Given the description of an element on the screen output the (x, y) to click on. 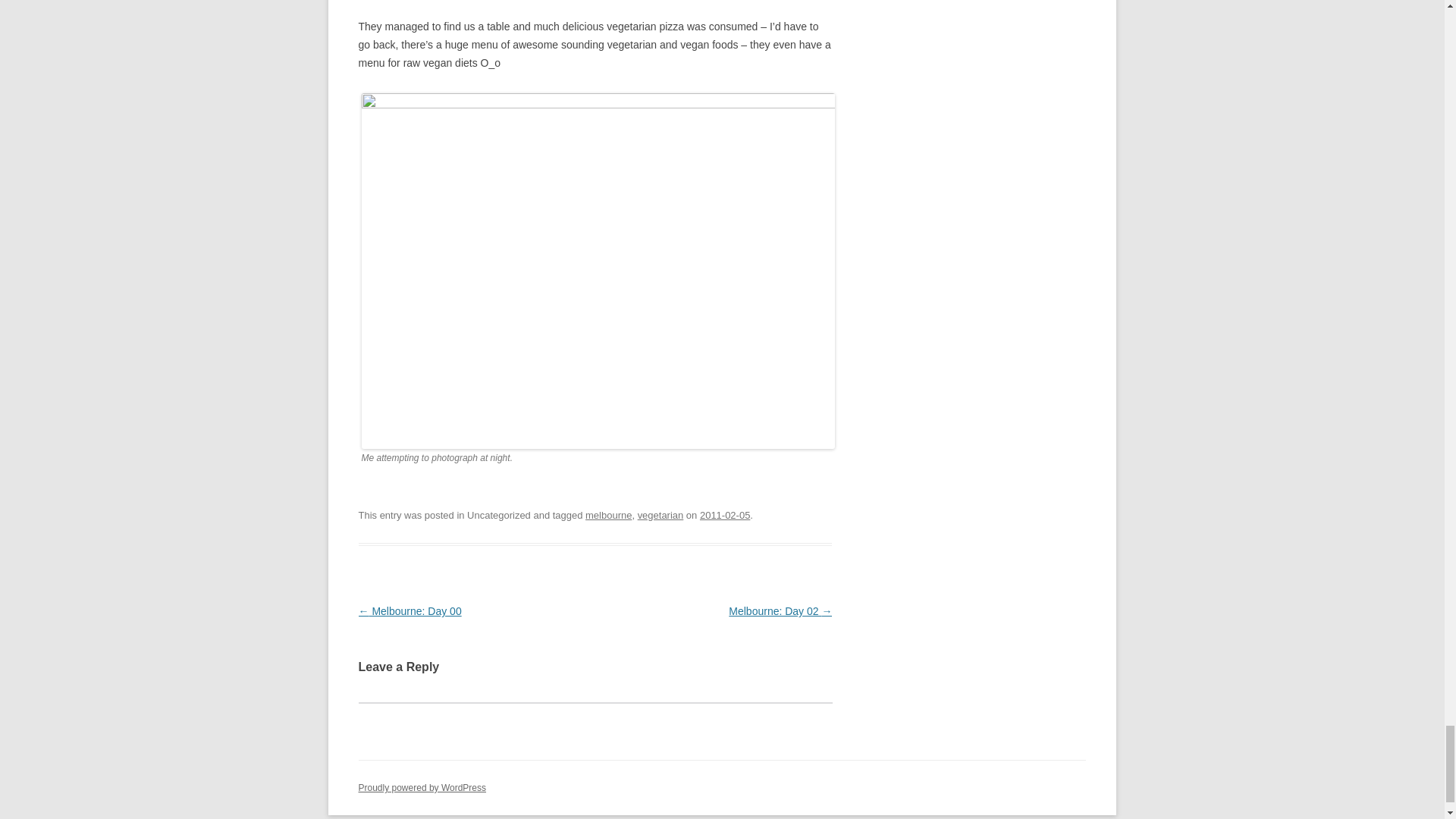
2011-02-05 (724, 514)
18:18 (724, 514)
melbourne (608, 514)
vegetarian (660, 514)
